Given the description of an element on the screen output the (x, y) to click on. 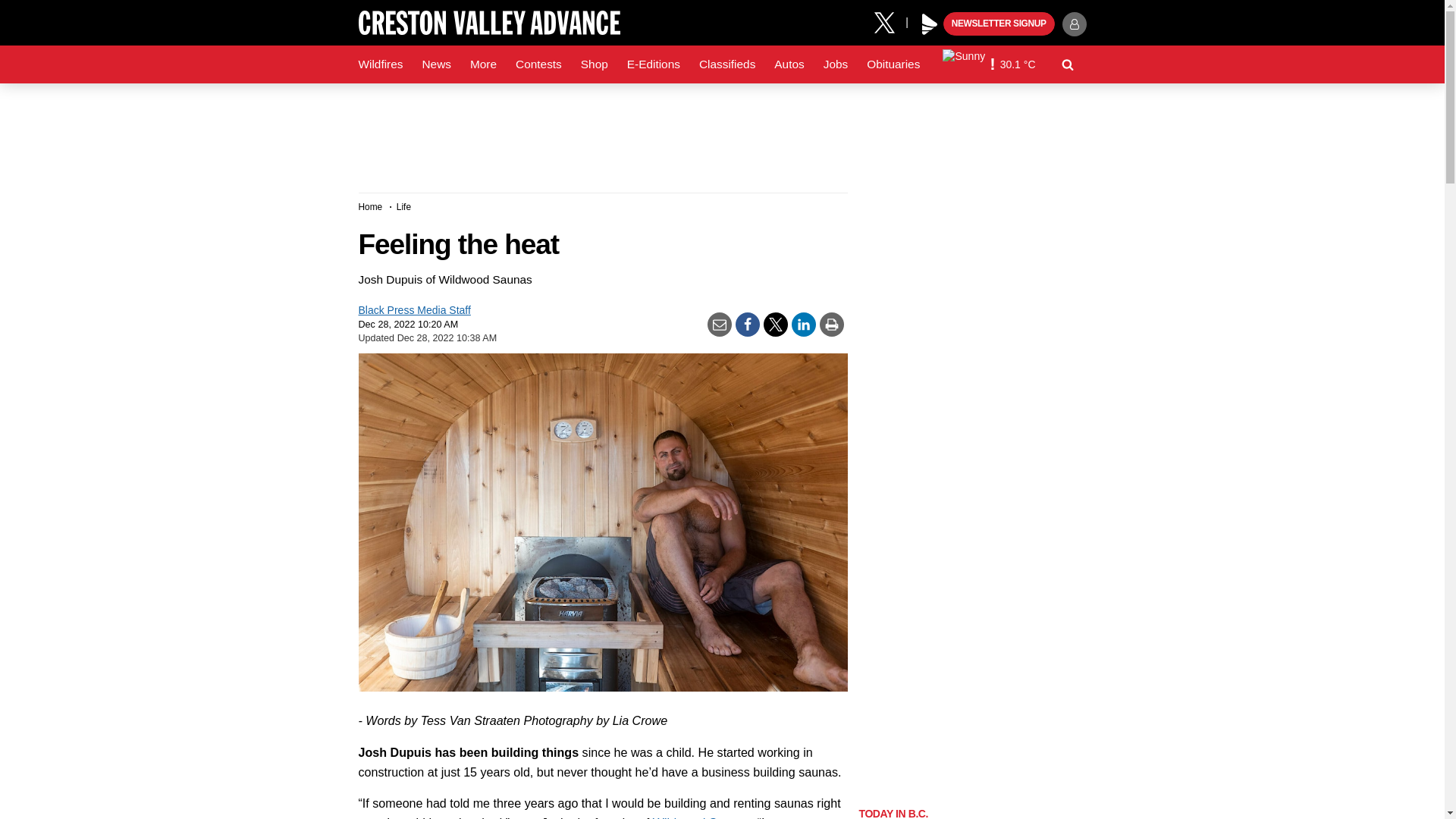
Wildwood Saunas (730, 817)
X (889, 21)
Wildfires (380, 64)
Black Press Media (929, 24)
NEWSLETTER SIGNUP (998, 24)
Play (929, 24)
Wildwood Saunas (680, 817)
News (435, 64)
